Given the description of an element on the screen output the (x, y) to click on. 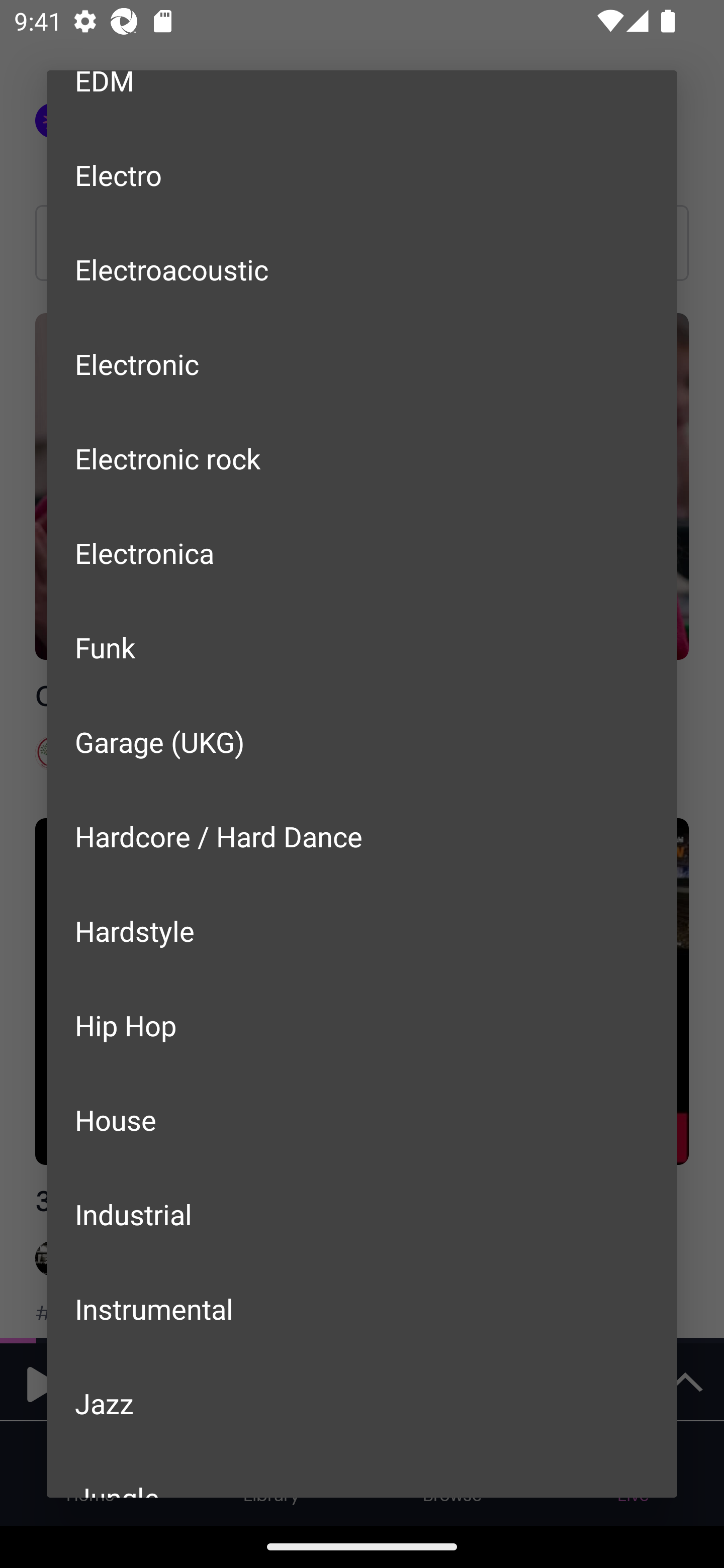
EDM (361, 98)
Electro (361, 174)
Electroacoustic (361, 269)
Electronic (361, 363)
Electronic rock (361, 457)
Electronica (361, 552)
Funk (361, 647)
Garage (UKG) (361, 741)
Hardcore / Hard Dance (361, 835)
Hardstyle (361, 930)
Hip Hop (361, 1025)
House (361, 1119)
Industrial (361, 1213)
Instrumental (361, 1308)
Jazz (361, 1403)
